Given the description of an element on the screen output the (x, y) to click on. 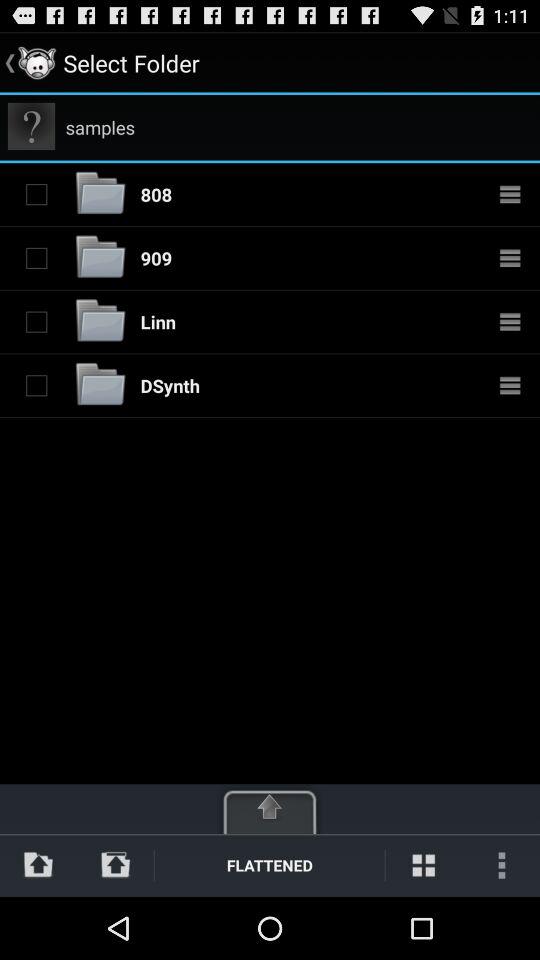
more details about folder (510, 257)
